Given the description of an element on the screen output the (x, y) to click on. 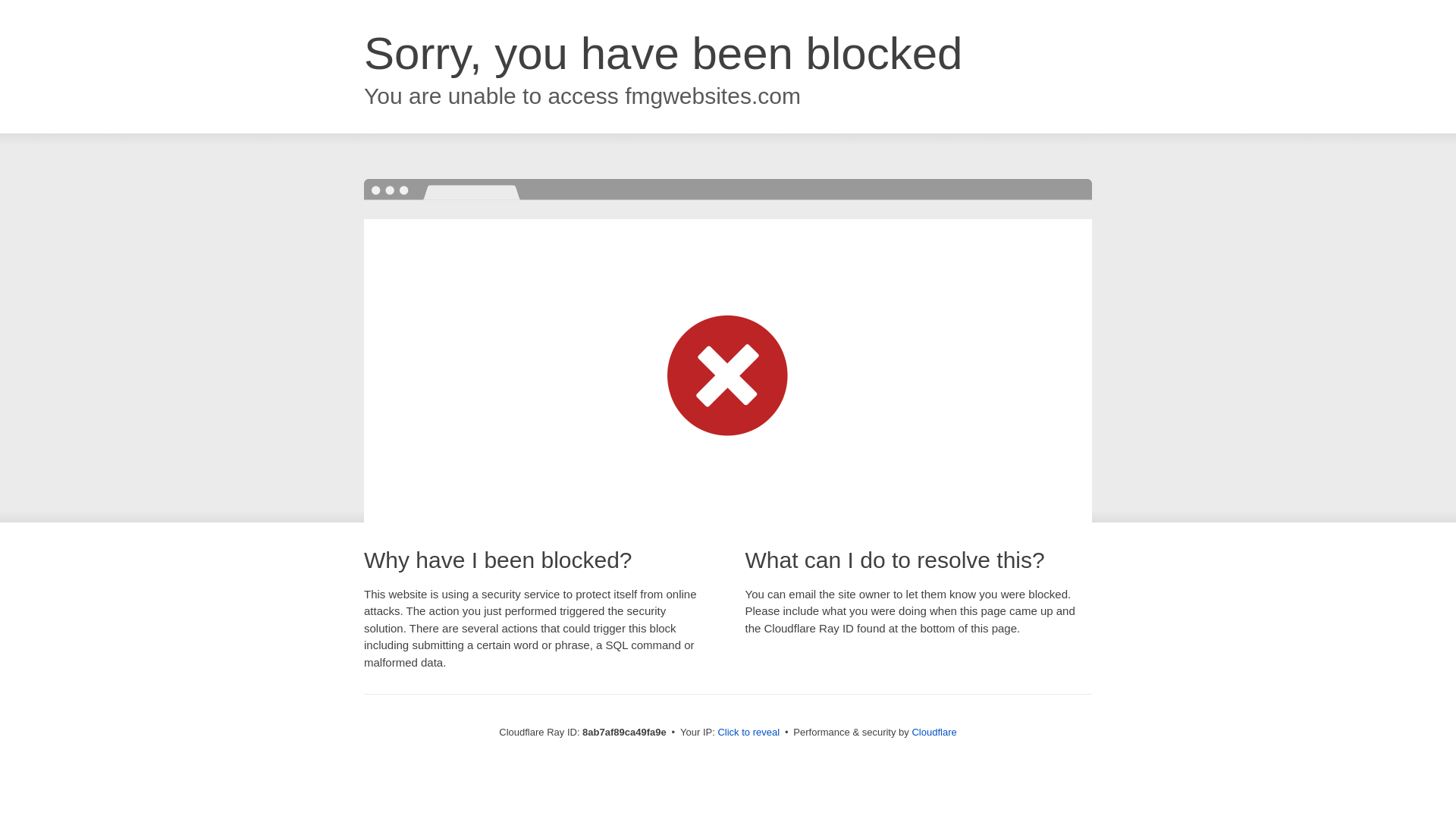
Cloudflare (933, 731)
Click to reveal (747, 732)
